Given the description of an element on the screen output the (x, y) to click on. 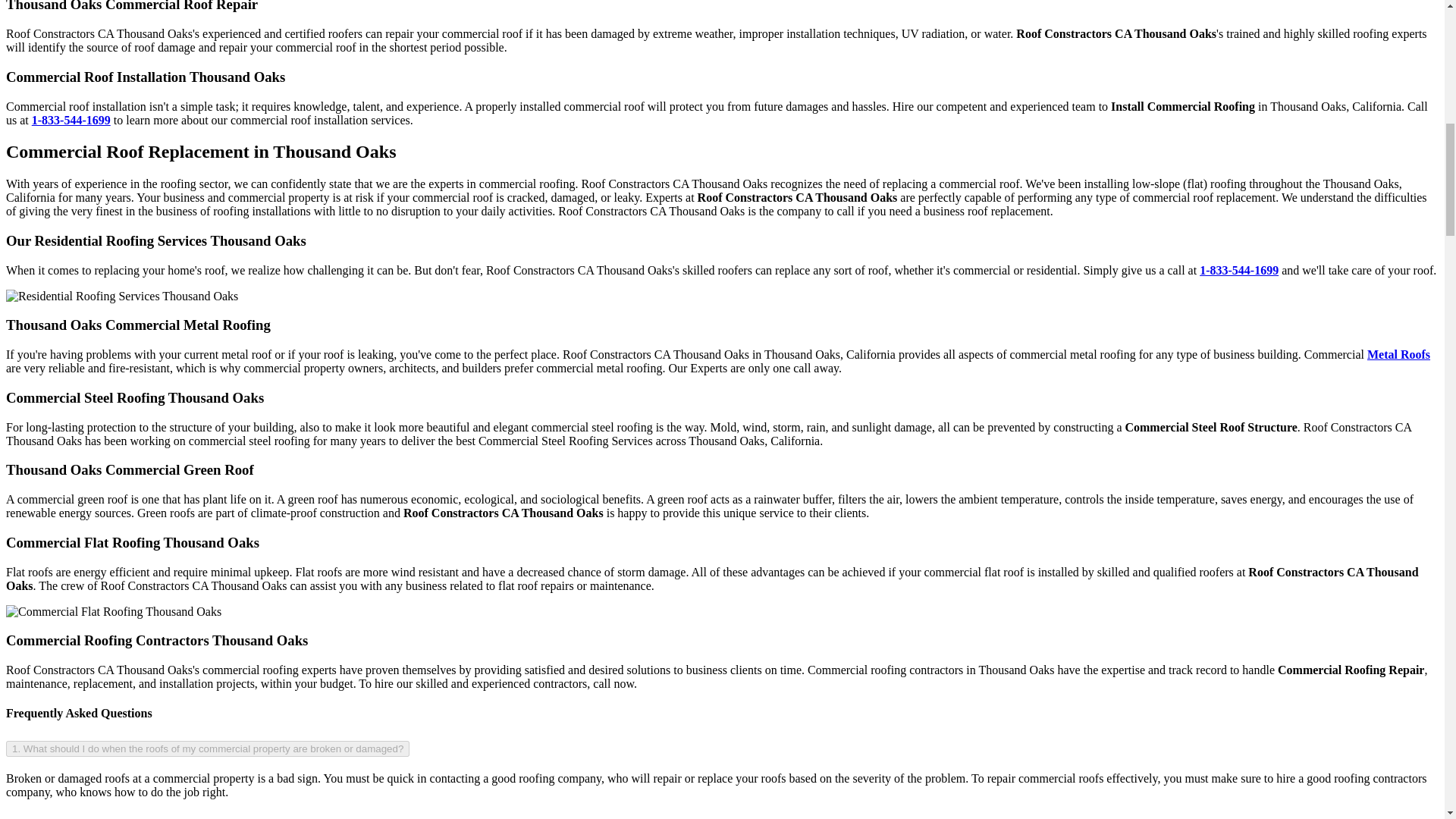
1-833-544-1699 (71, 119)
1-833-544-1699 (1238, 269)
Metal Roofs (1398, 354)
